Given the description of an element on the screen output the (x, y) to click on. 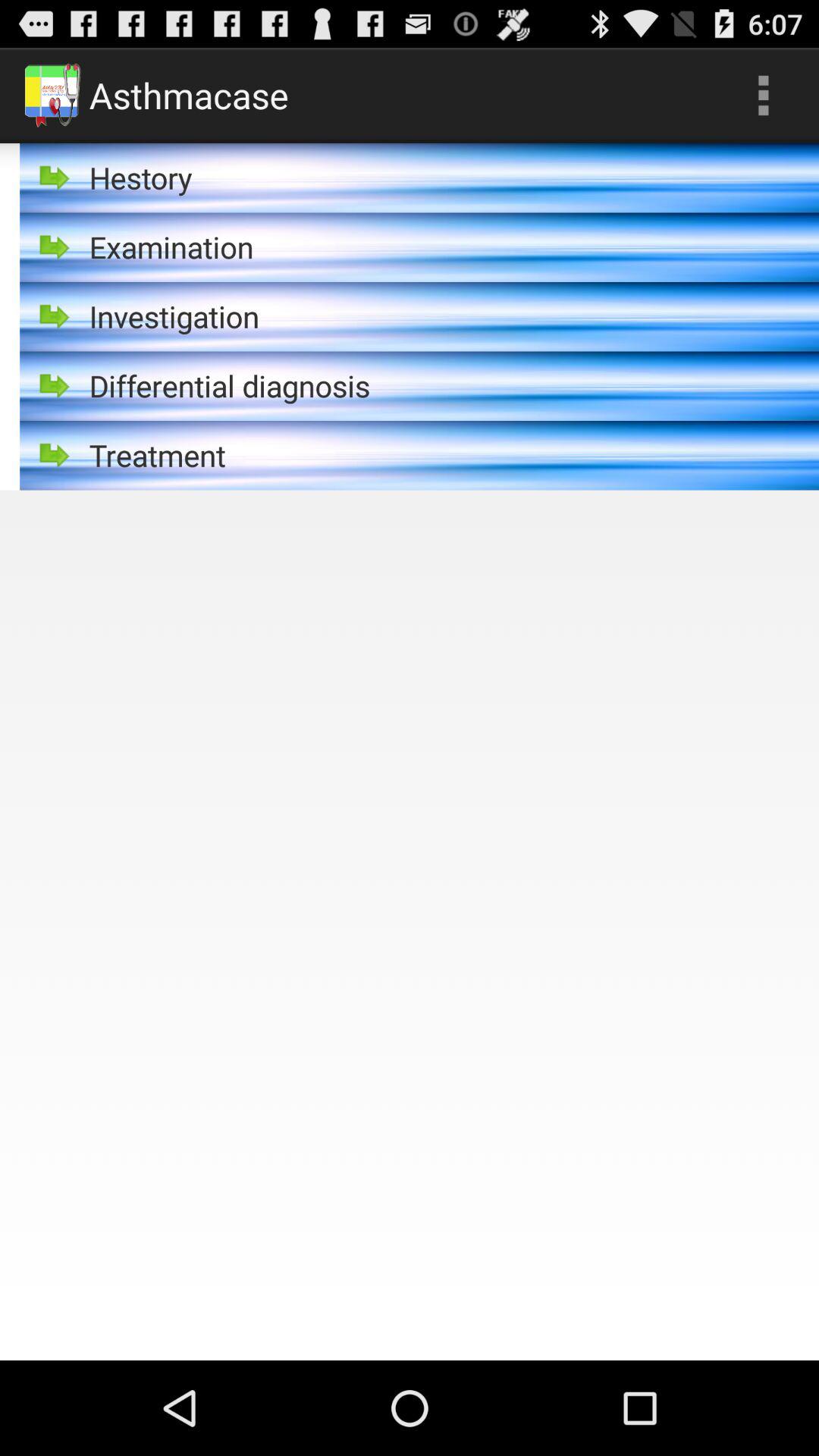
turn off the icon next to asthmacase item (763, 95)
